Given the description of an element on the screen output the (x, y) to click on. 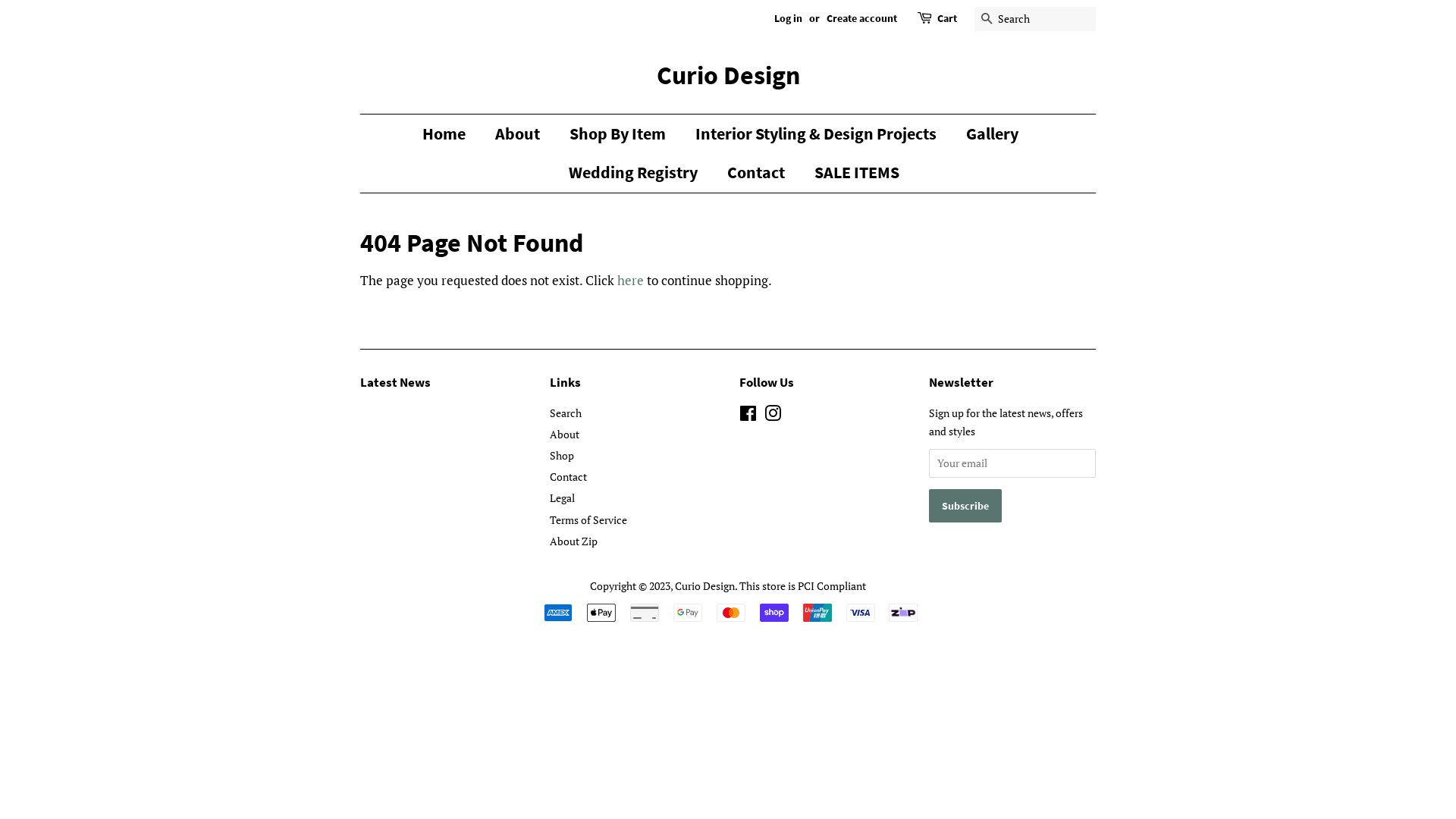
Search Element type: text (565, 412)
Contact Element type: text (757, 172)
Interior Styling & Design Projects Element type: text (817, 133)
here Element type: text (630, 279)
Shop By Item Element type: text (619, 133)
Search Element type: text (986, 18)
Terms of Service Element type: text (588, 519)
Create account Element type: text (861, 18)
Subscribe Element type: text (964, 505)
Cart Element type: text (947, 18)
About Element type: text (564, 433)
Wedding Registry Element type: text (634, 172)
SALE ITEMS Element type: text (850, 172)
Log in Element type: text (788, 18)
Instagram Element type: text (772, 415)
Contact Element type: text (567, 476)
Legal Element type: text (561, 497)
About Zip Element type: text (573, 540)
This store is PCI Compliant Element type: text (802, 585)
Curio Design Element type: text (704, 585)
Latest News Element type: text (395, 381)
Shop Element type: text (561, 455)
Curio Design Element type: text (727, 75)
Gallery Element type: text (993, 133)
Home Element type: text (451, 133)
About Element type: text (519, 133)
Facebook Element type: text (747, 415)
